Given the description of an element on the screen output the (x, y) to click on. 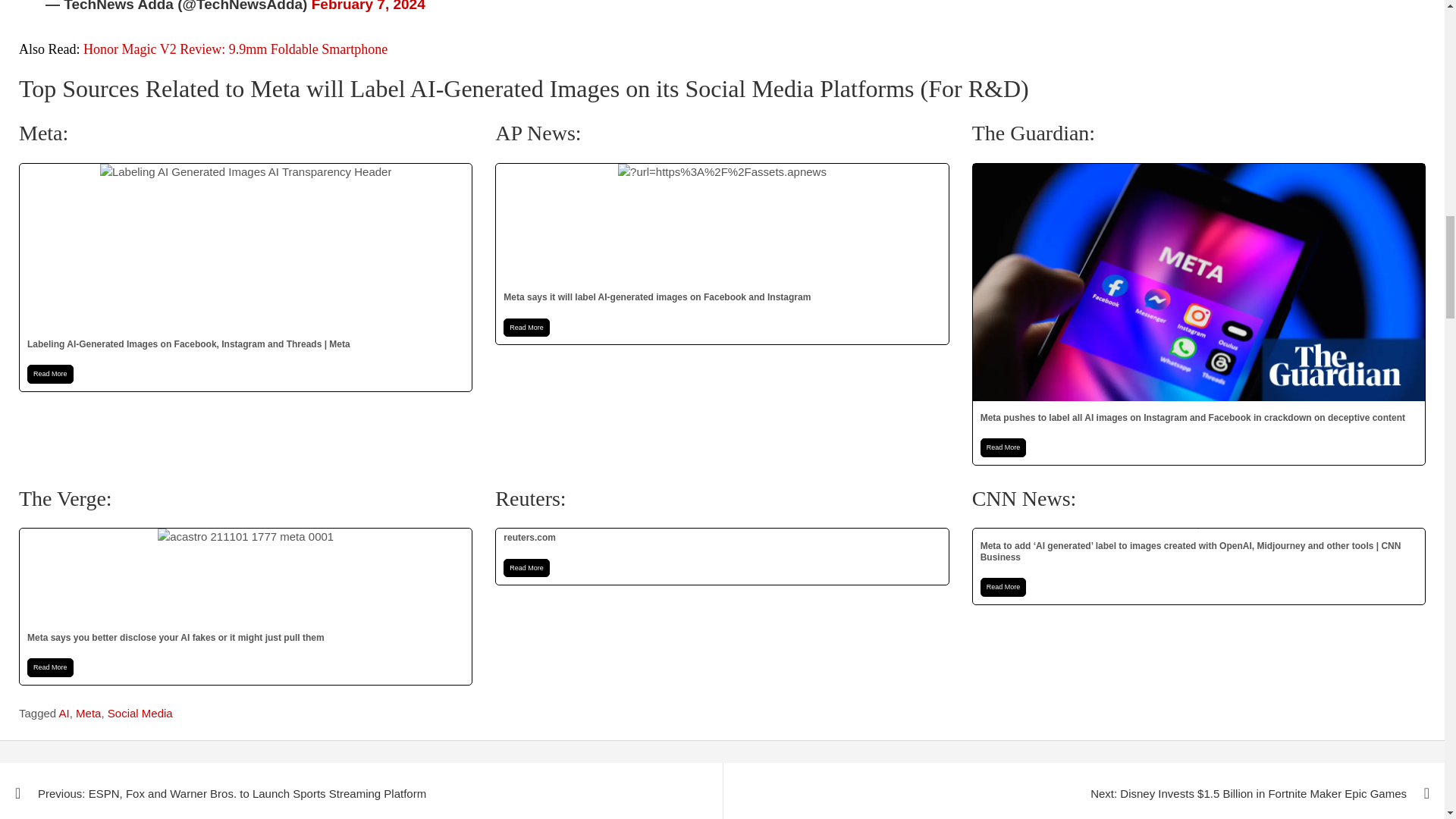
reuters.com (721, 556)
